Given the description of an element on the screen output the (x, y) to click on. 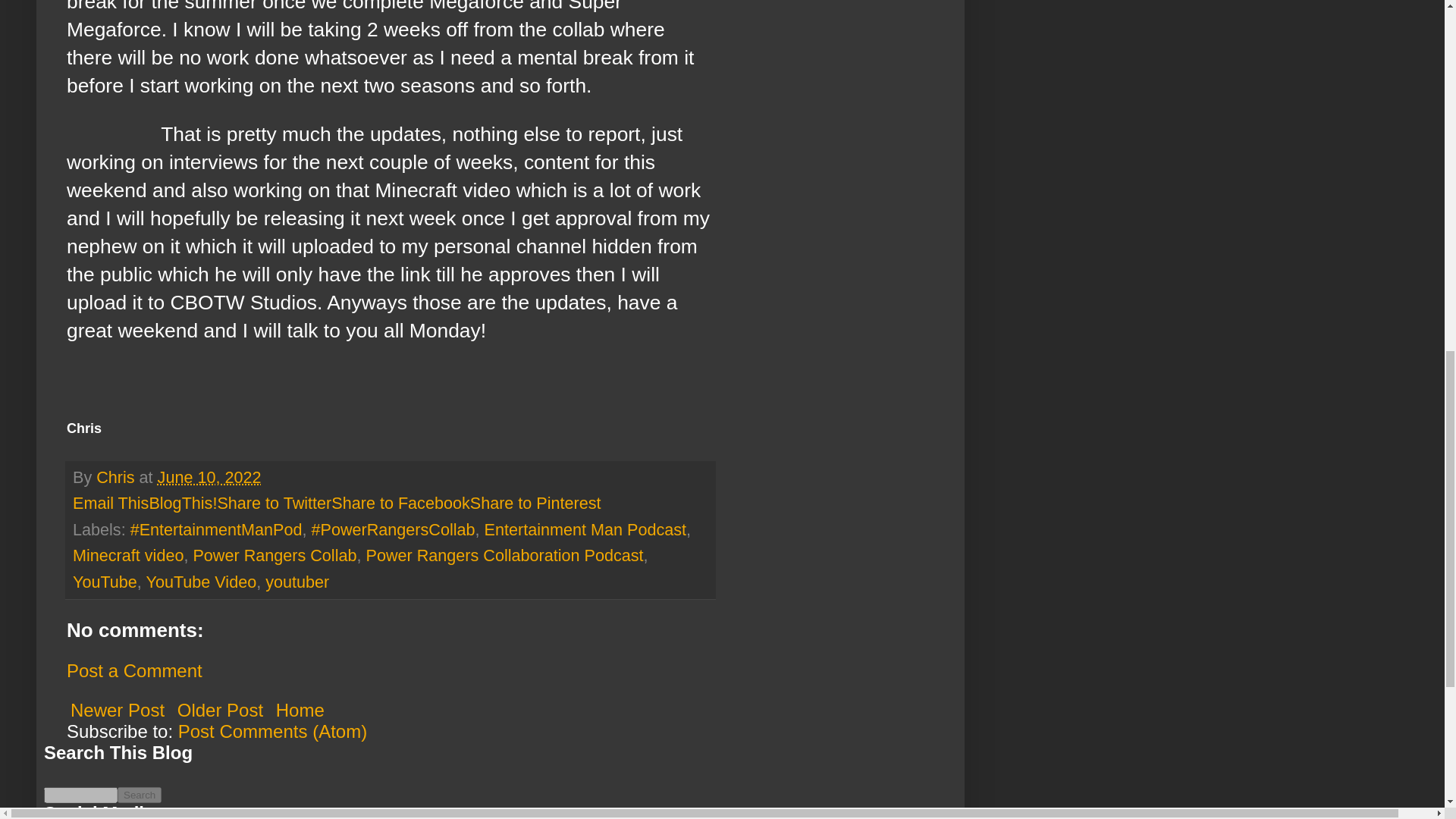
Search (139, 795)
Older Post (219, 709)
BlogThis! (182, 502)
June 10, 2022 (209, 476)
Post a Comment (134, 670)
permanent link (209, 476)
search (80, 795)
author profile (117, 476)
Search (139, 795)
Share to Pinterest (535, 502)
